Given the description of an element on the screen output the (x, y) to click on. 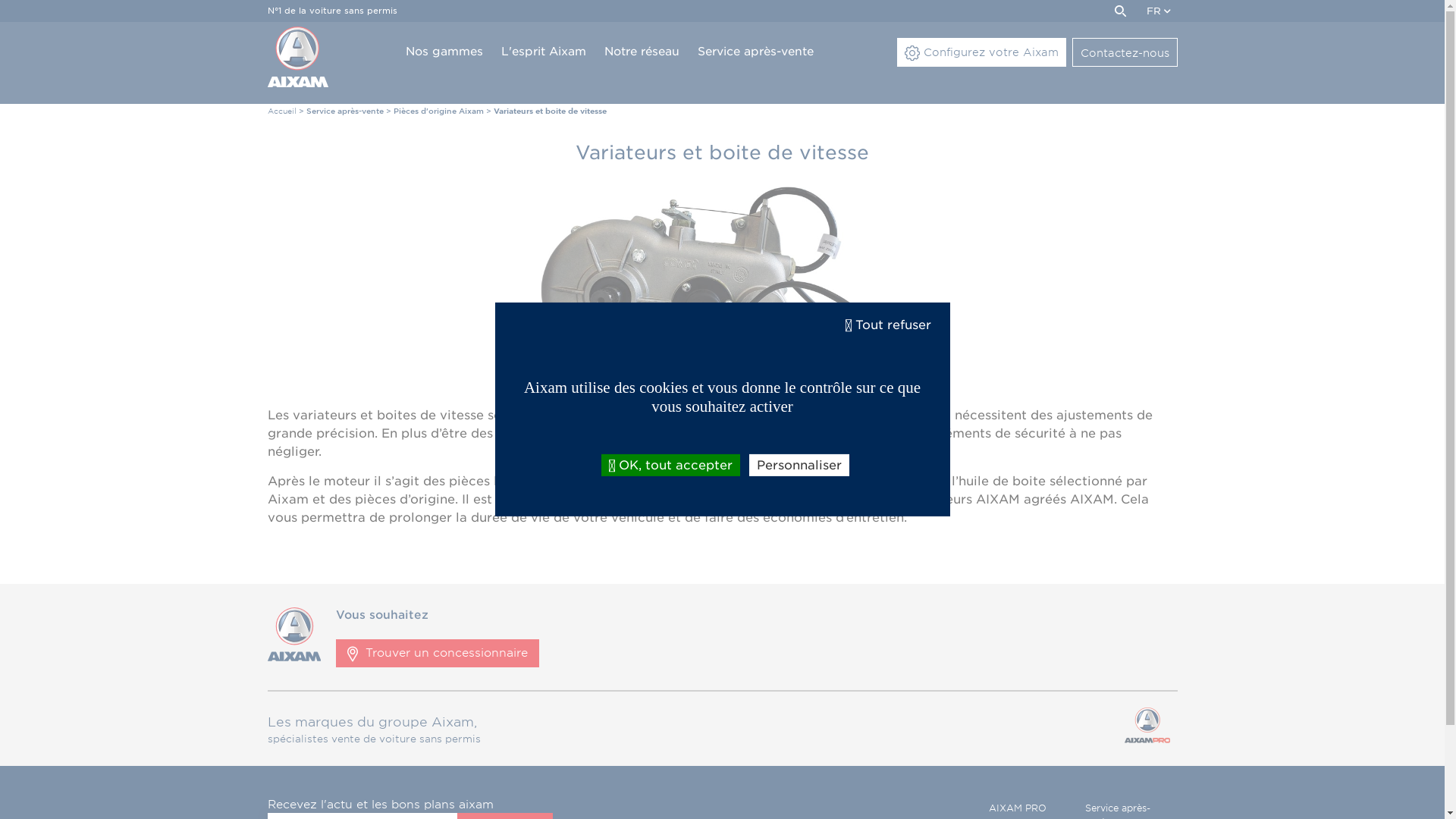
Personnaliser Element type: text (799, 465)
Tout refuser Element type: text (887, 324)
OK Element type: text (1119, 10)
Contactez-nous Element type: text (1124, 51)
Accueil Element type: text (280, 110)
Configurez votre Aixam Element type: text (980, 51)
Trouver un concessionnaire Element type: text (437, 652)
Aixam Element type: hover (293, 656)
OK, tout accepter Element type: text (669, 465)
Nos gammes Element type: text (443, 52)
Aixam PRO Element type: hover (1146, 728)
L'esprit Aixam Element type: text (542, 52)
Aixam Element type: hover (296, 56)
